Given the description of an element on the screen output the (x, y) to click on. 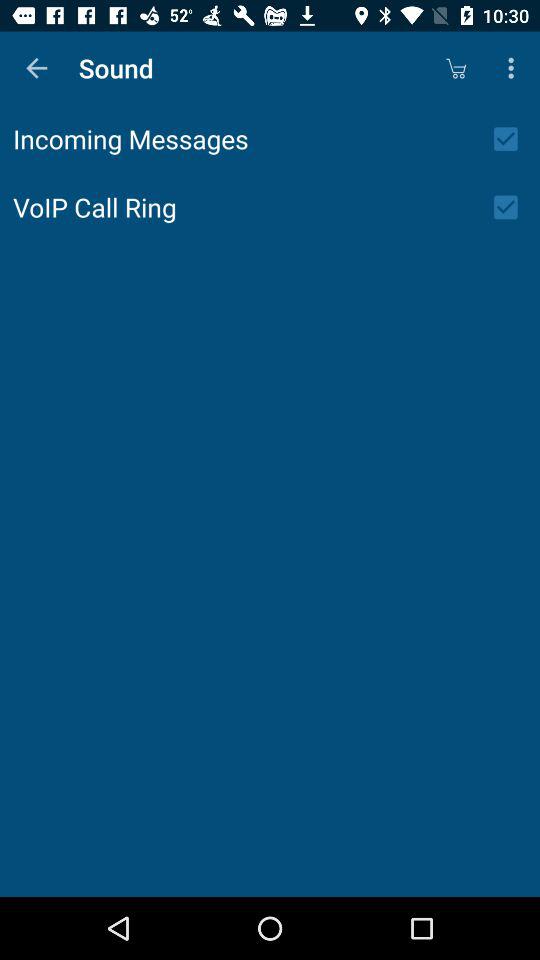
toggle ring off/on (512, 207)
